Given the description of an element on the screen output the (x, y) to click on. 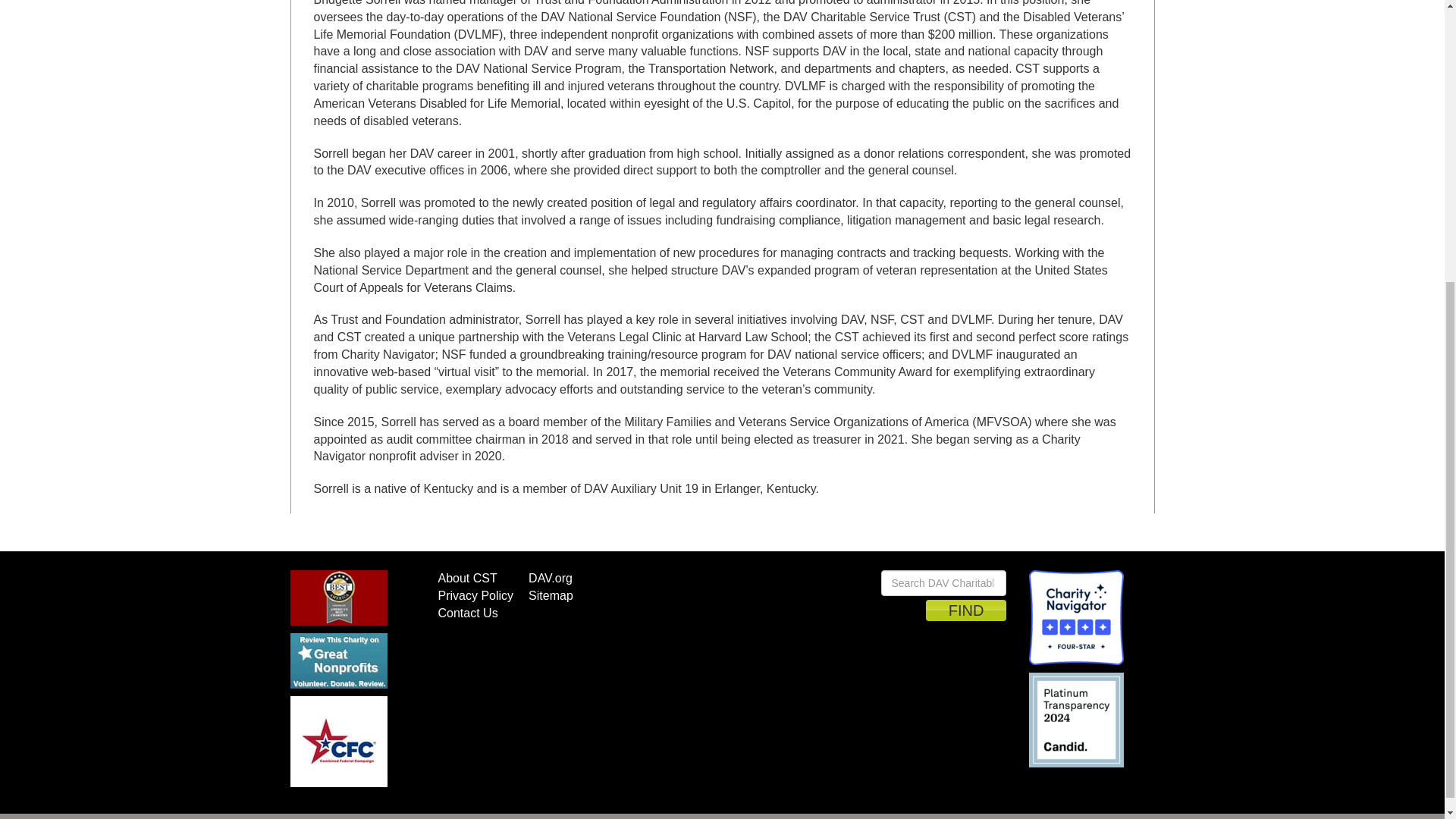
Find (966, 609)
